Given the description of an element on the screen output the (x, y) to click on. 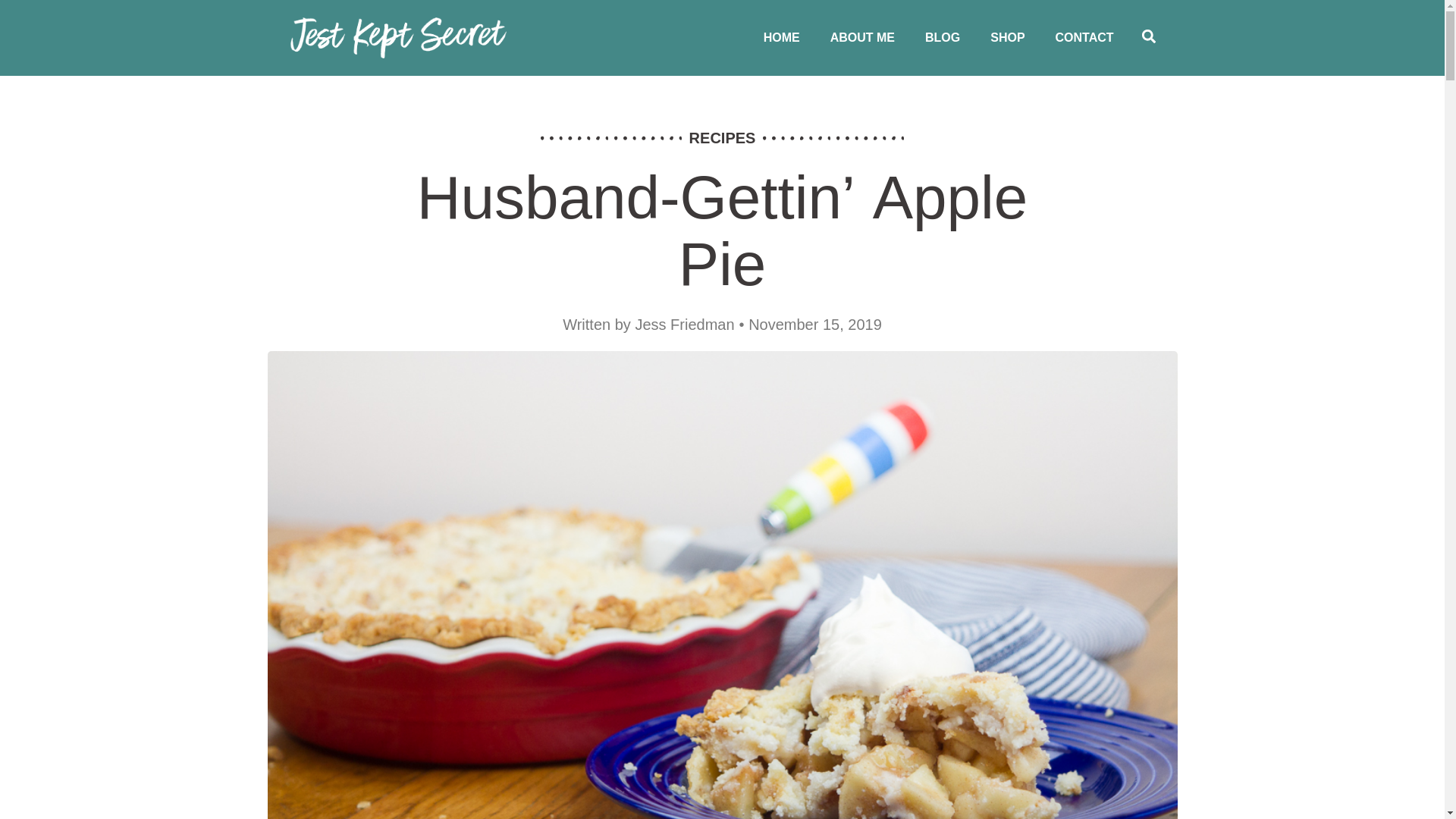
ABOUT ME (862, 37)
HOME (781, 37)
SHOP (1007, 37)
BLOG (942, 37)
CONTACT (1085, 37)
